Given the description of an element on the screen output the (x, y) to click on. 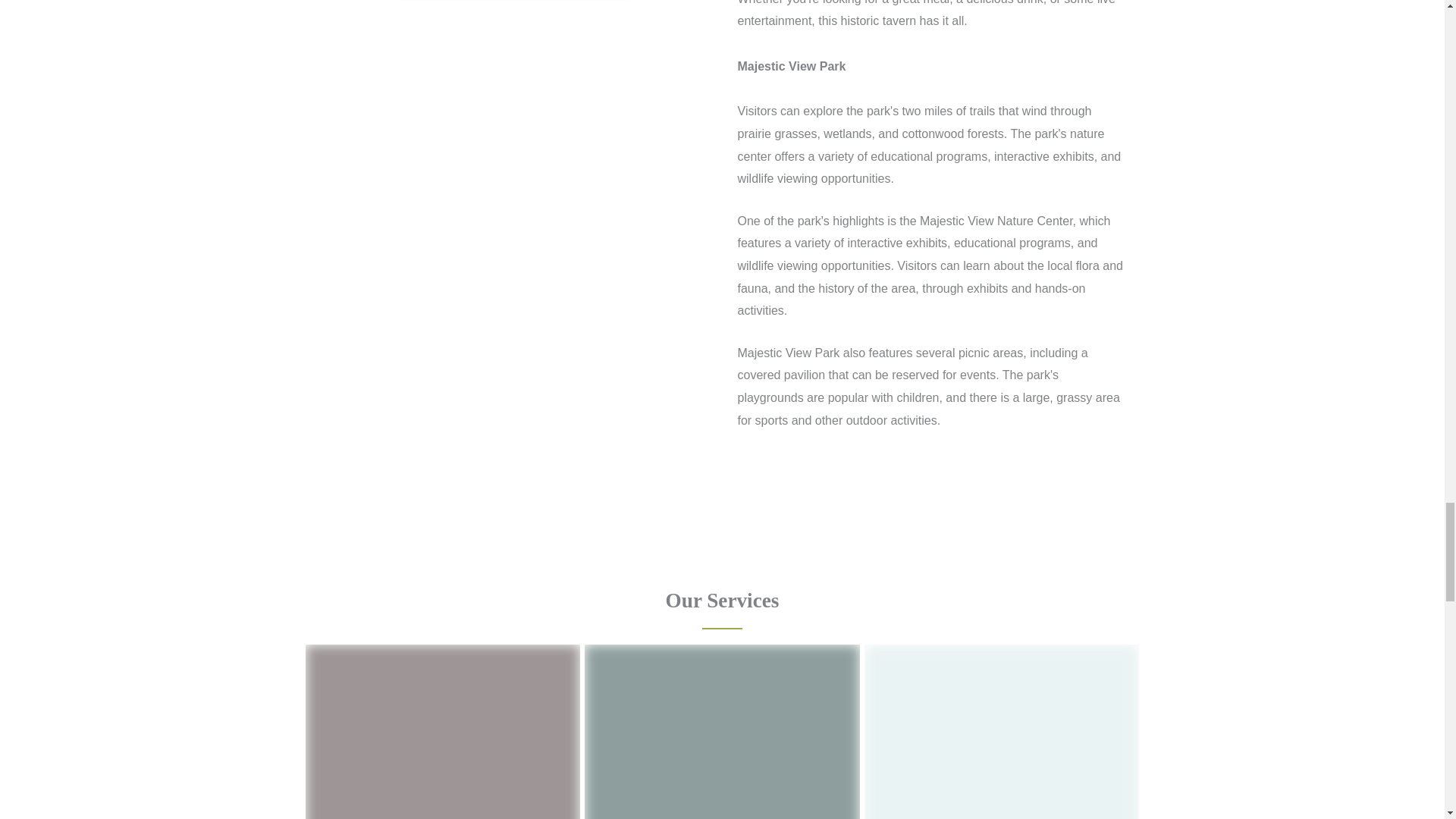
floor tile installation (1002, 731)
kitchen backsplace tile installation in denver home (441, 731)
